Given the description of an element on the screen output the (x, y) to click on. 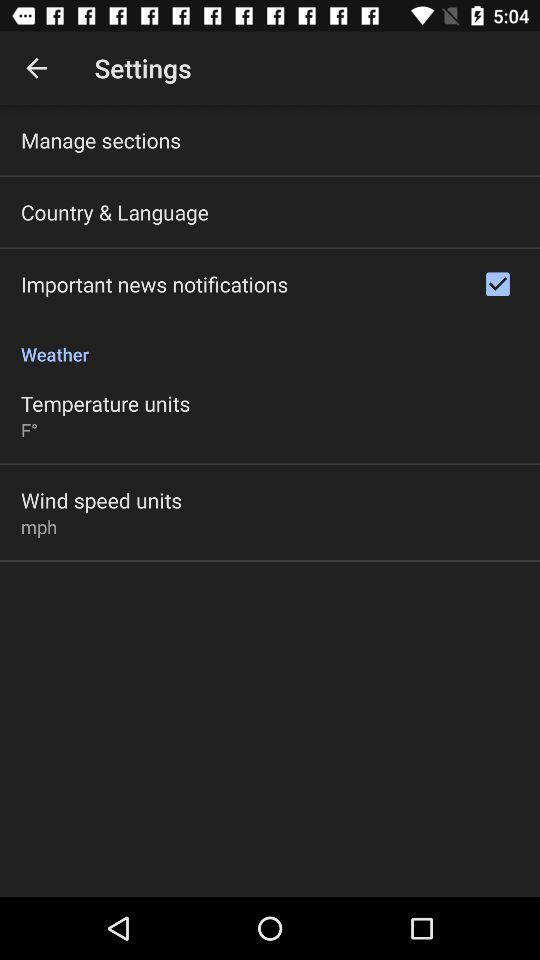
launch temperature units item (105, 403)
